Given the description of an element on the screen output the (x, y) to click on. 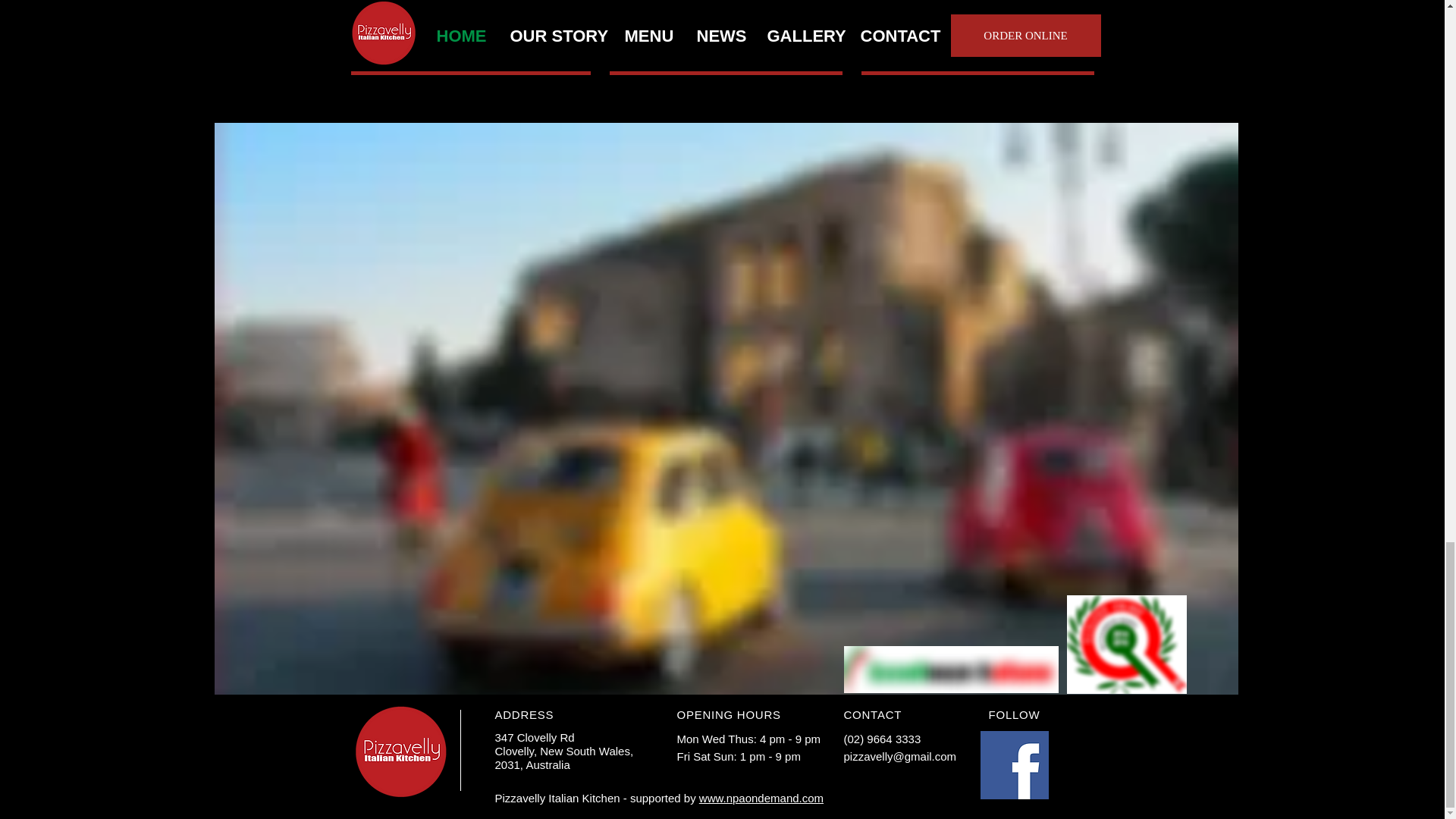
www.npaondemand.com (761, 797)
